Given the description of an element on the screen output the (x, y) to click on. 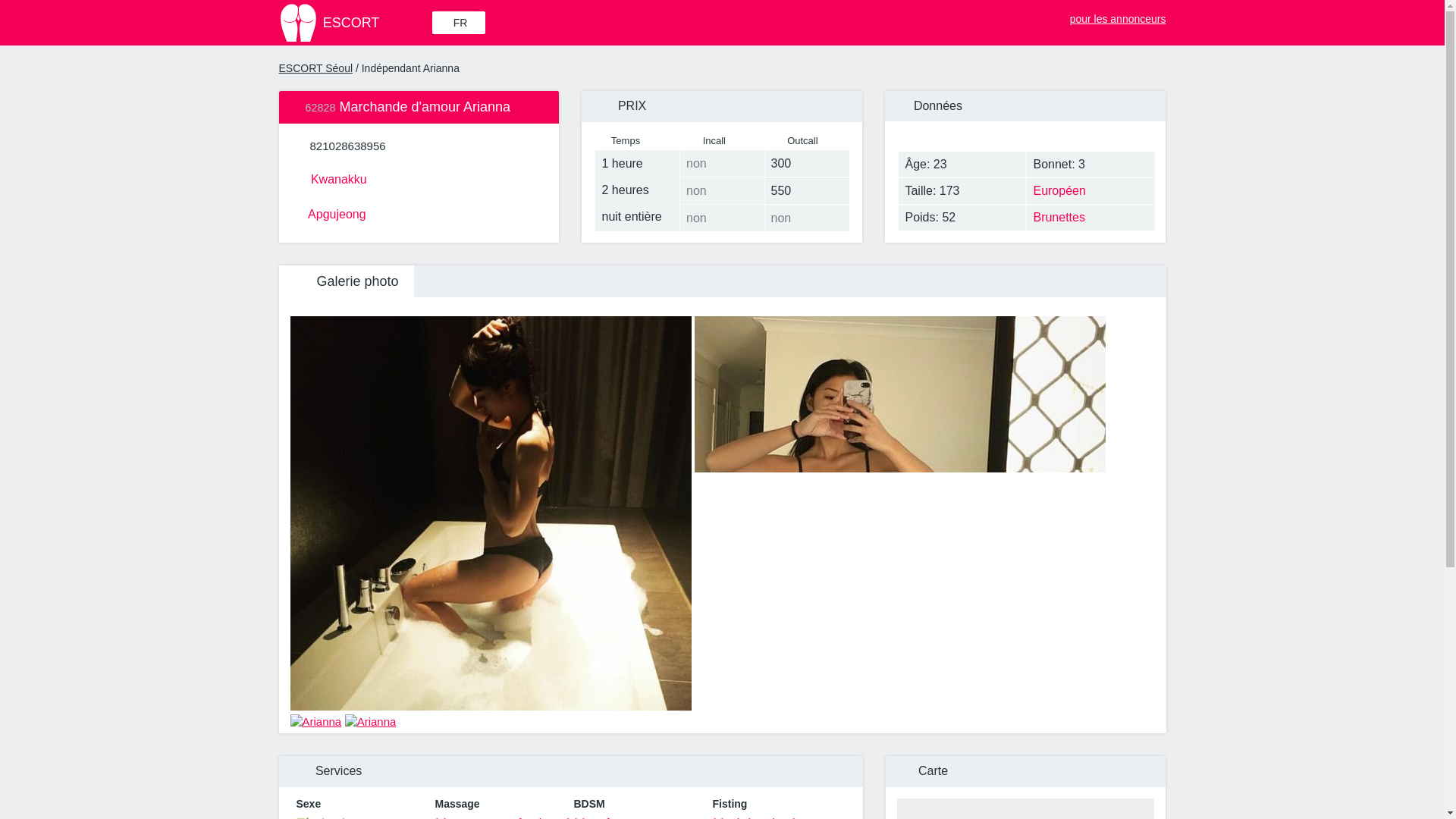
Classique sexe (342, 816)
Galerie photo (346, 281)
Apgujeong (418, 212)
ESCORT (354, 22)
pour les annonceurs (1109, 15)
Kwanakku (418, 177)
Massage professionnel (502, 816)
821028638956 (347, 145)
